Given the description of an element on the screen output the (x, y) to click on. 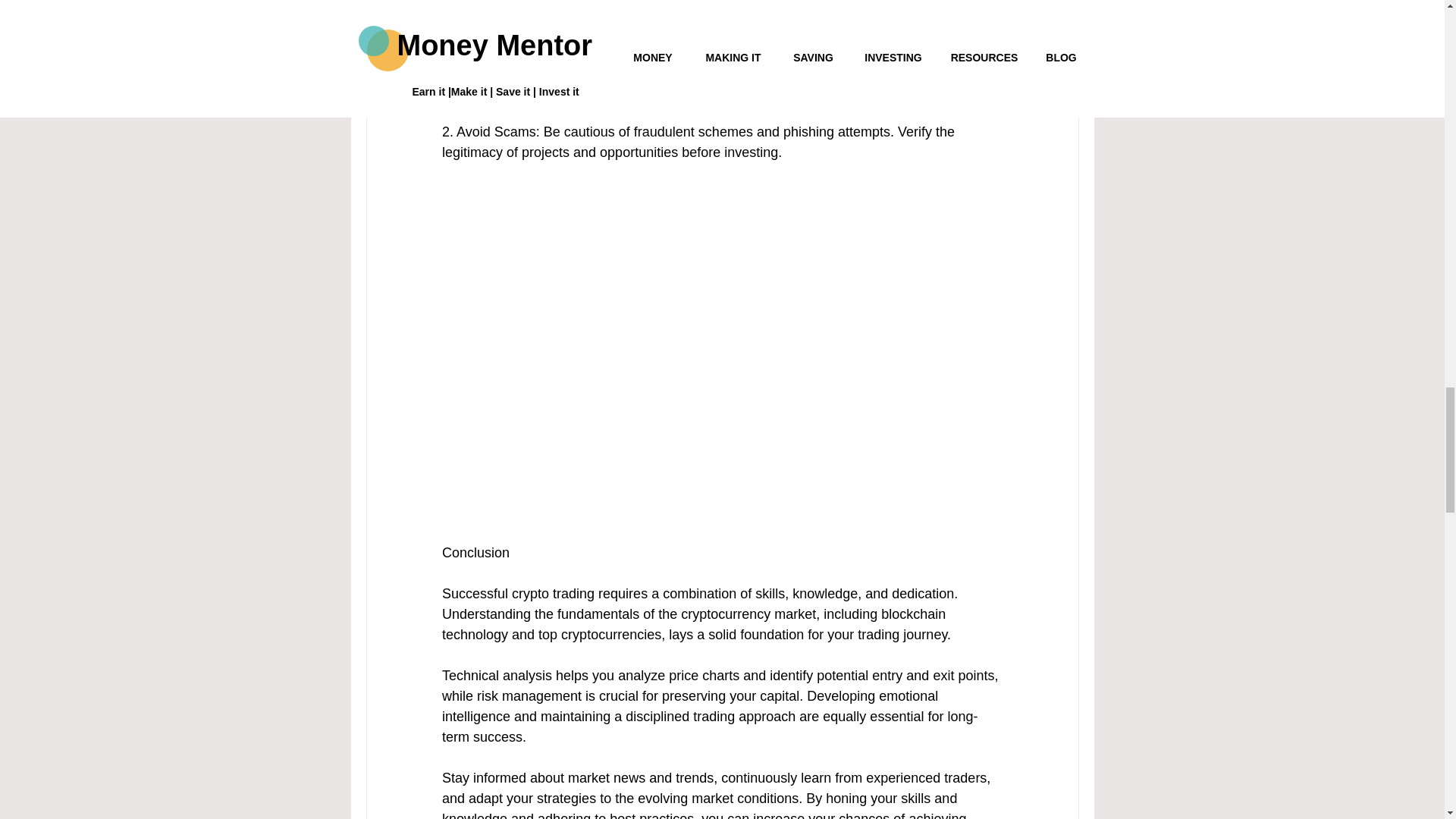
ricos-video (722, 241)
